Given the description of an element on the screen output the (x, y) to click on. 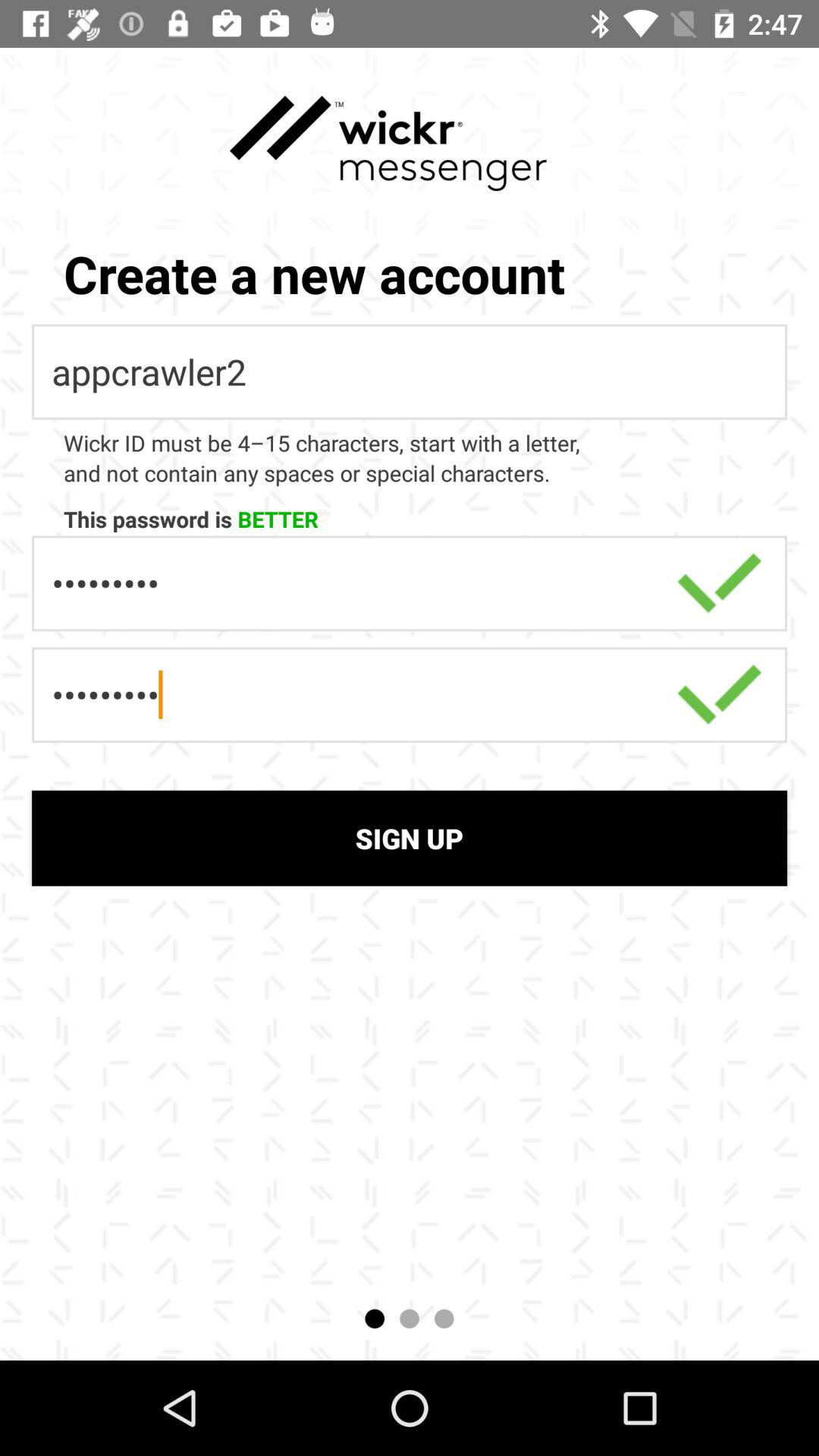
flip to the sign up icon (409, 838)
